Given the description of an element on the screen output the (x, y) to click on. 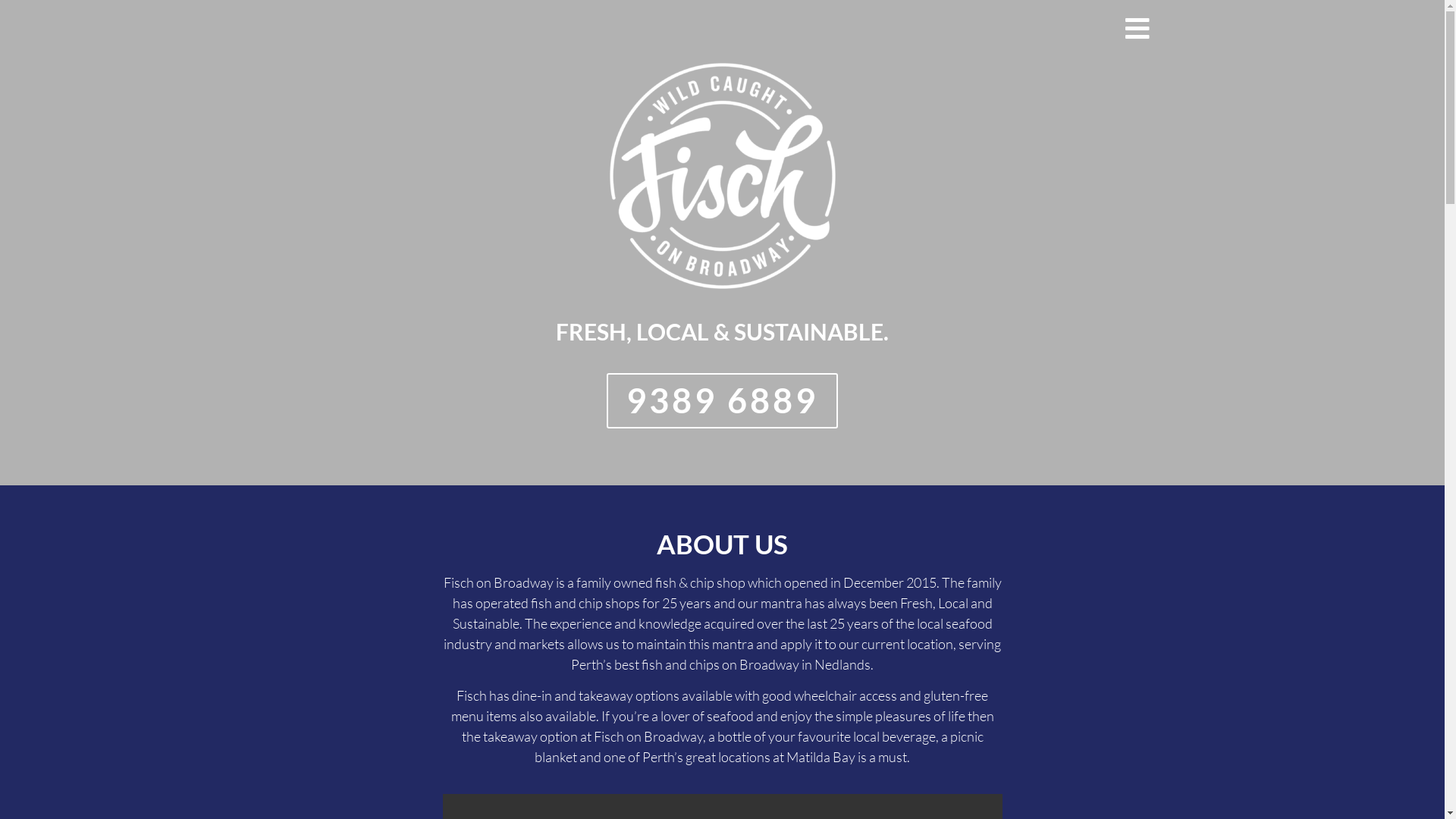
9389 6889 Element type: text (721, 400)
